Given the description of an element on the screen output the (x, y) to click on. 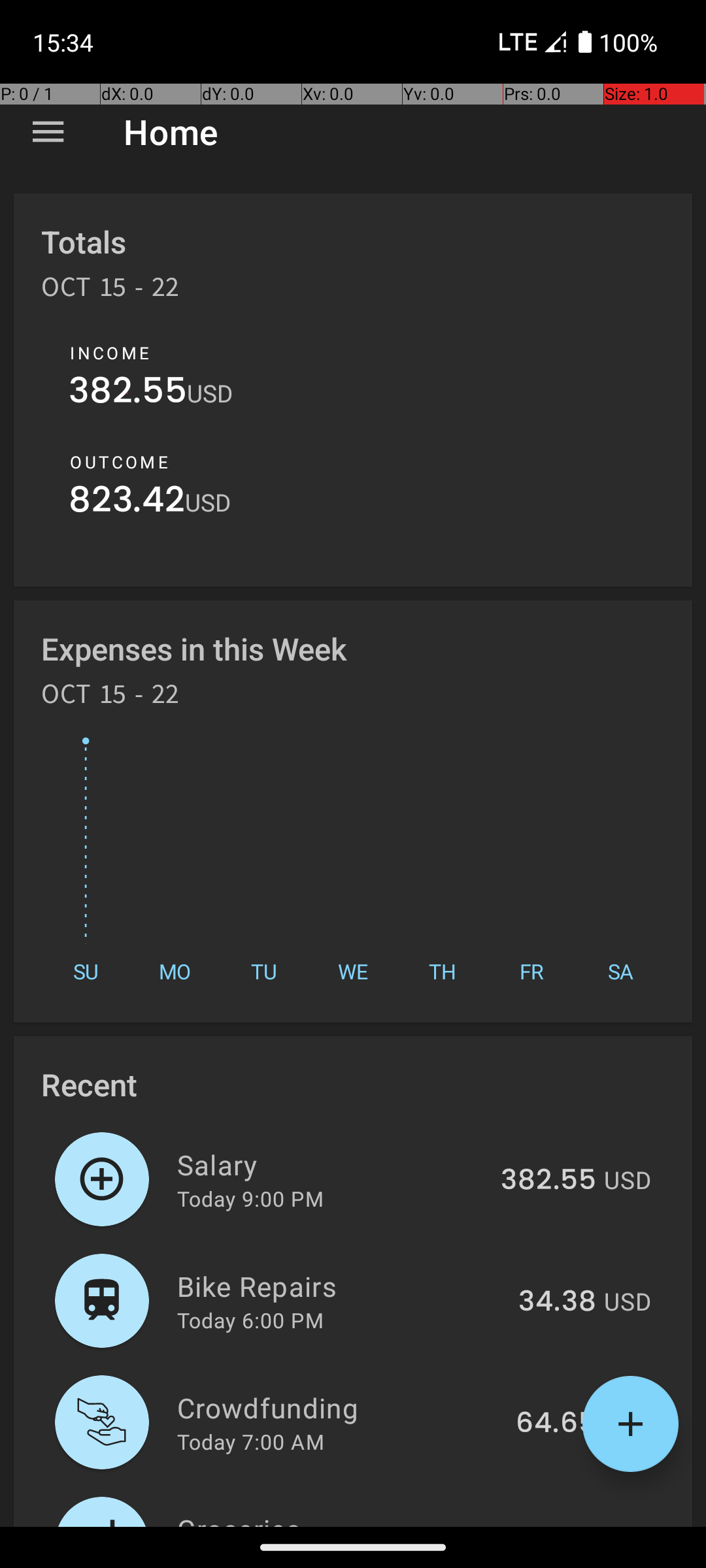
382.55 Element type: android.widget.TextView (127, 393)
823.42 Element type: android.widget.TextView (126, 502)
Salary Element type: android.widget.TextView (331, 1164)
Today 9:00 PM Element type: android.widget.TextView (250, 1198)
Bike Repairs Element type: android.widget.TextView (340, 1285)
Today 6:00 PM Element type: android.widget.TextView (250, 1320)
34.38 Element type: android.widget.TextView (556, 1301)
Crowdfunding Element type: android.widget.TextView (338, 1407)
Today 7:00 AM Element type: android.widget.TextView (250, 1441)
64.65 Element type: android.widget.TextView (555, 1423)
Groceries Element type: android.widget.TextView (330, 1518)
345.63 Element type: android.widget.TextView (547, 1524)
